Given the description of an element on the screen output the (x, y) to click on. 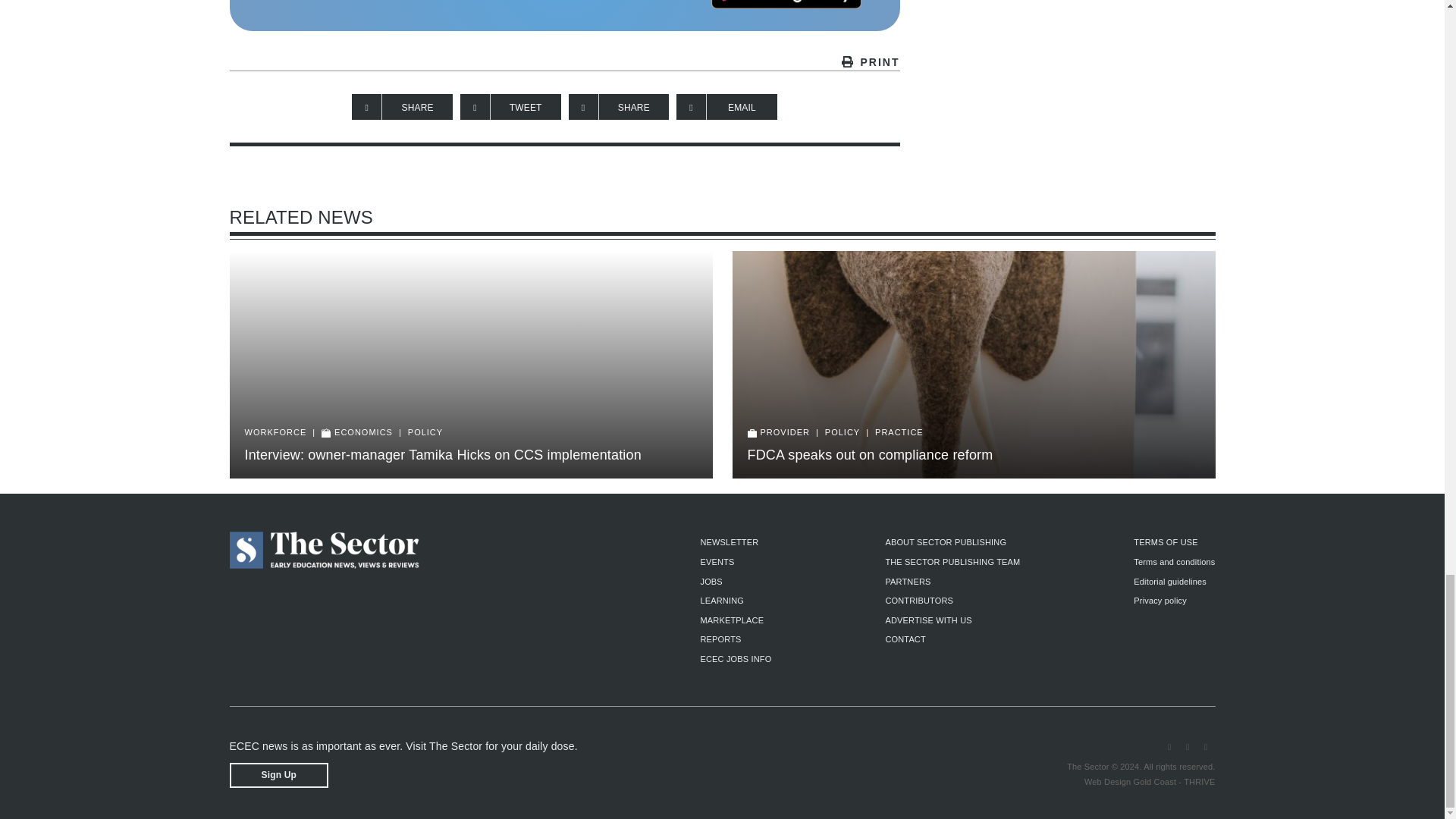
Web Design Gold Coast (1130, 781)
Share on Facebook (402, 106)
Tweet (510, 106)
Share on LinkedIn (619, 106)
Share on Email (727, 106)
